Given the description of an element on the screen output the (x, y) to click on. 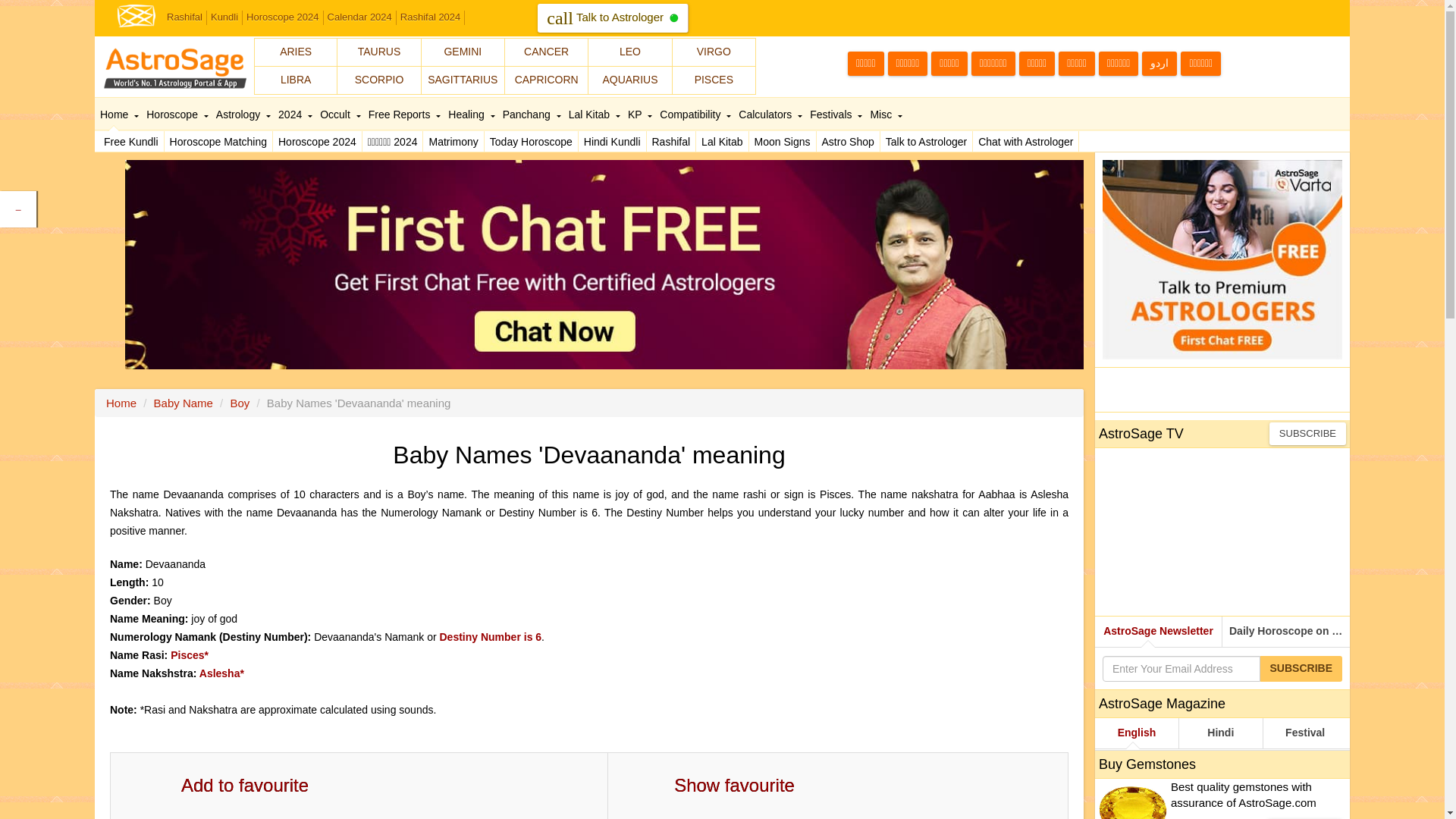
Rashifal (670, 141)
SAGITTARIUS (462, 80)
www.AstroSage.com: Vedic Astrology (136, 14)
Matrimony (453, 141)
CANCER (546, 52)
Today Horoscope (531, 141)
Kannada (949, 63)
Free Kundli (131, 141)
LIBRA (295, 80)
Tamil (865, 63)
